Given the description of an element on the screen output the (x, y) to click on. 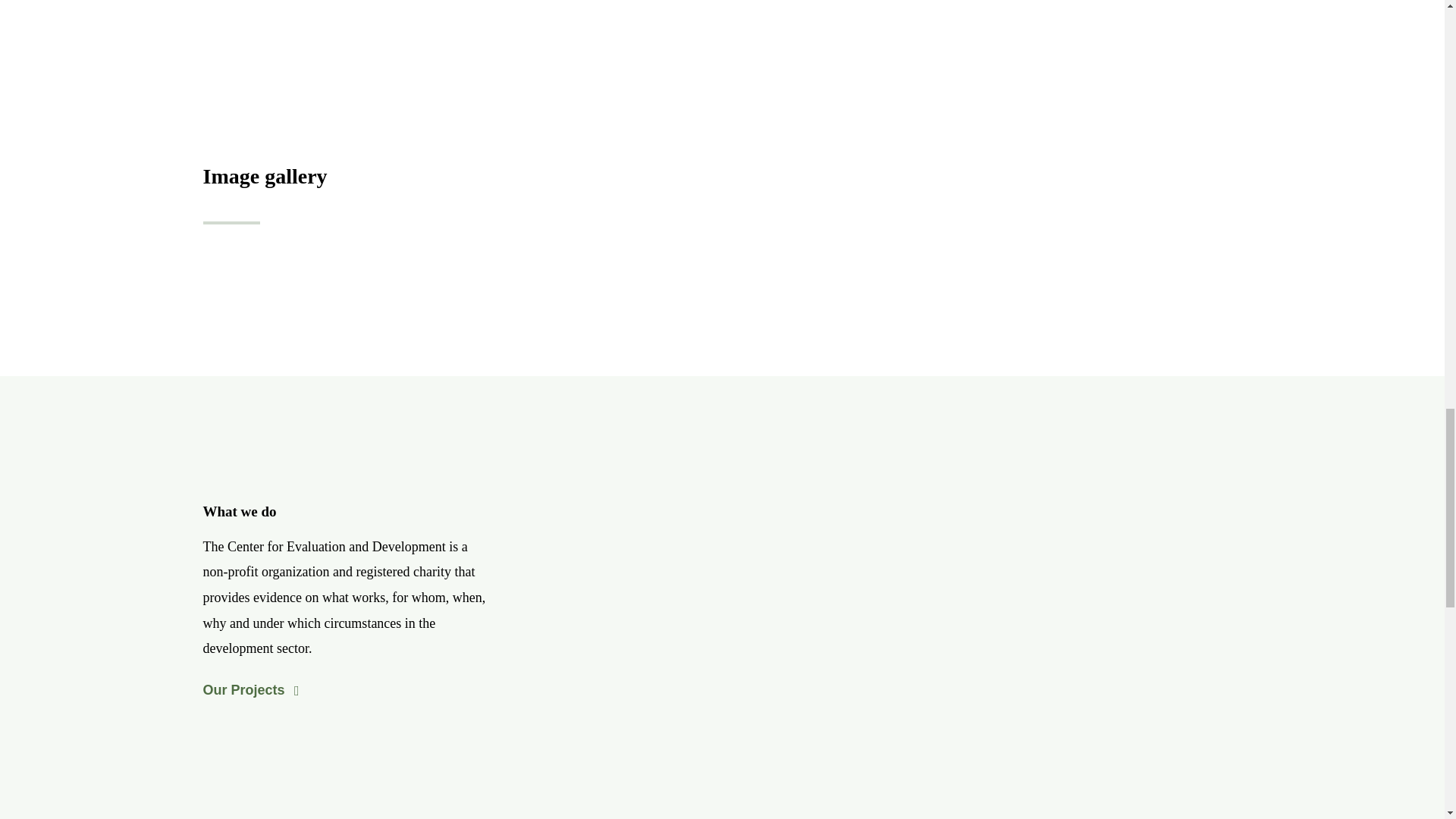
Our Projects (250, 690)
